Given the description of an element on the screen output the (x, y) to click on. 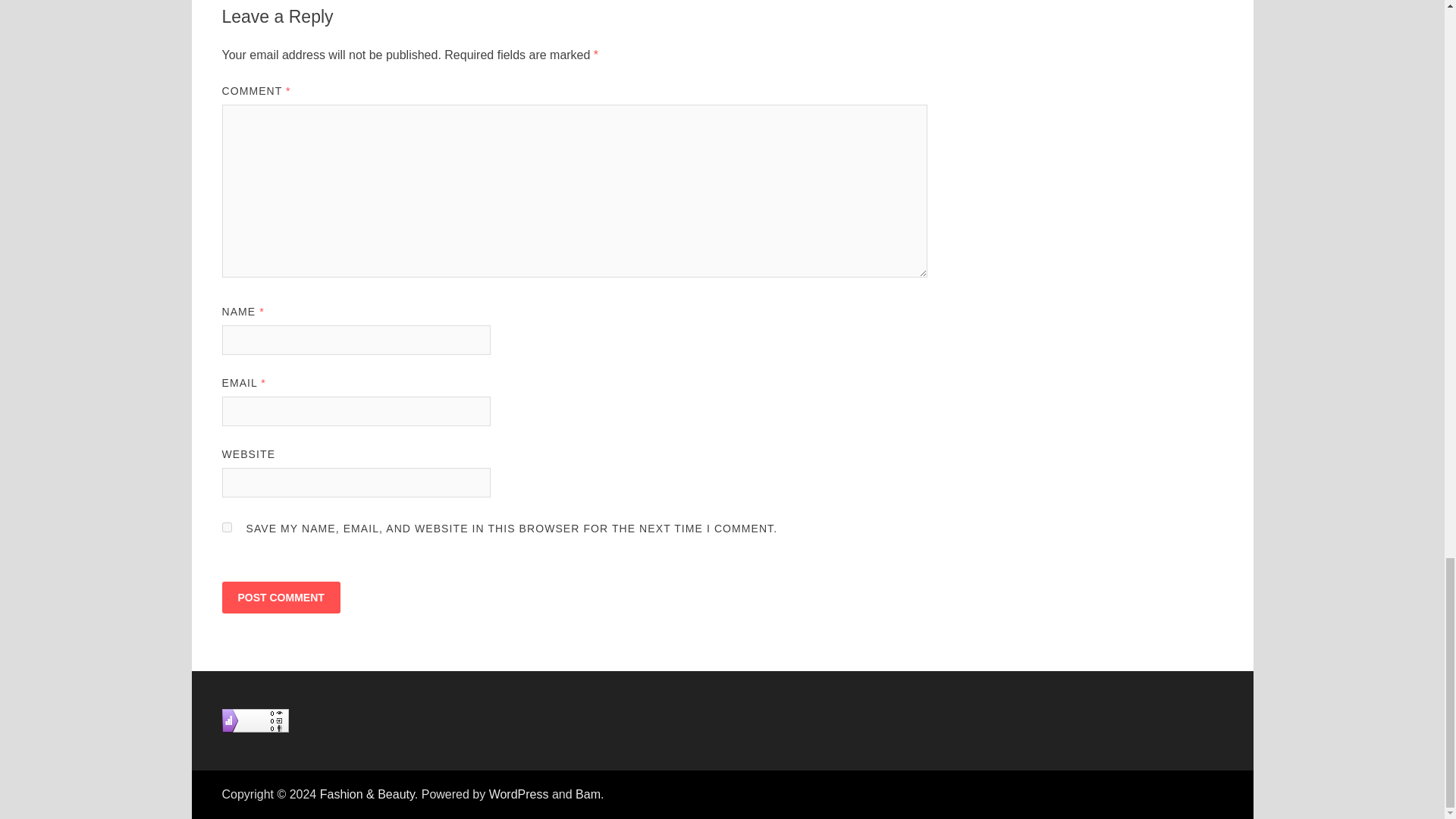
Post Comment (280, 597)
WordPress (518, 793)
Post Comment (280, 597)
Bam (587, 793)
yes (226, 527)
